Given the description of an element on the screen output the (x, y) to click on. 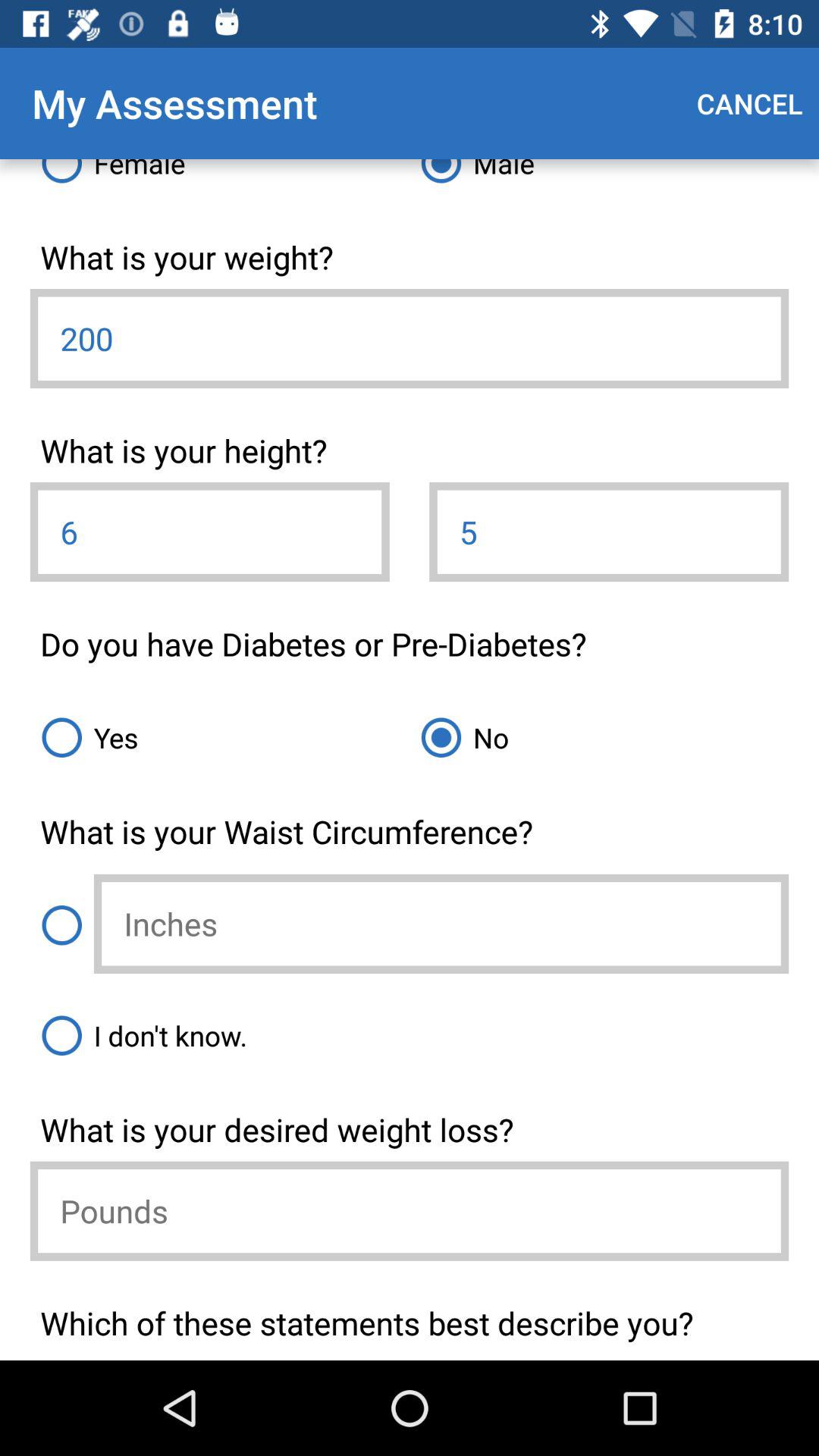
select waist size (61, 925)
